Given the description of an element on the screen output the (x, y) to click on. 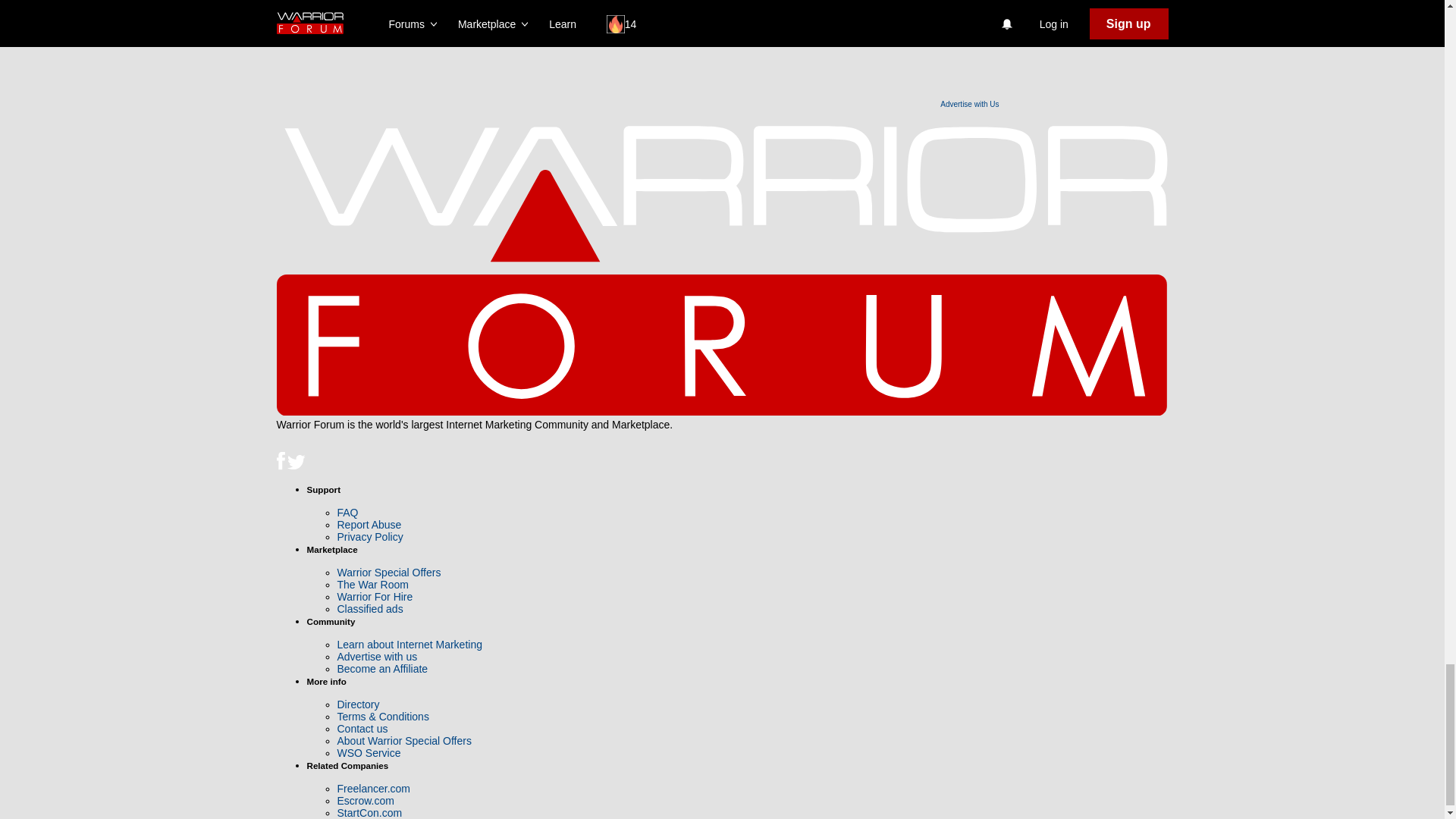
Bird (295, 462)
Warrior Forum on Facebook (281, 466)
3rd party ad content (741, 61)
